Given the description of an element on the screen output the (x, y) to click on. 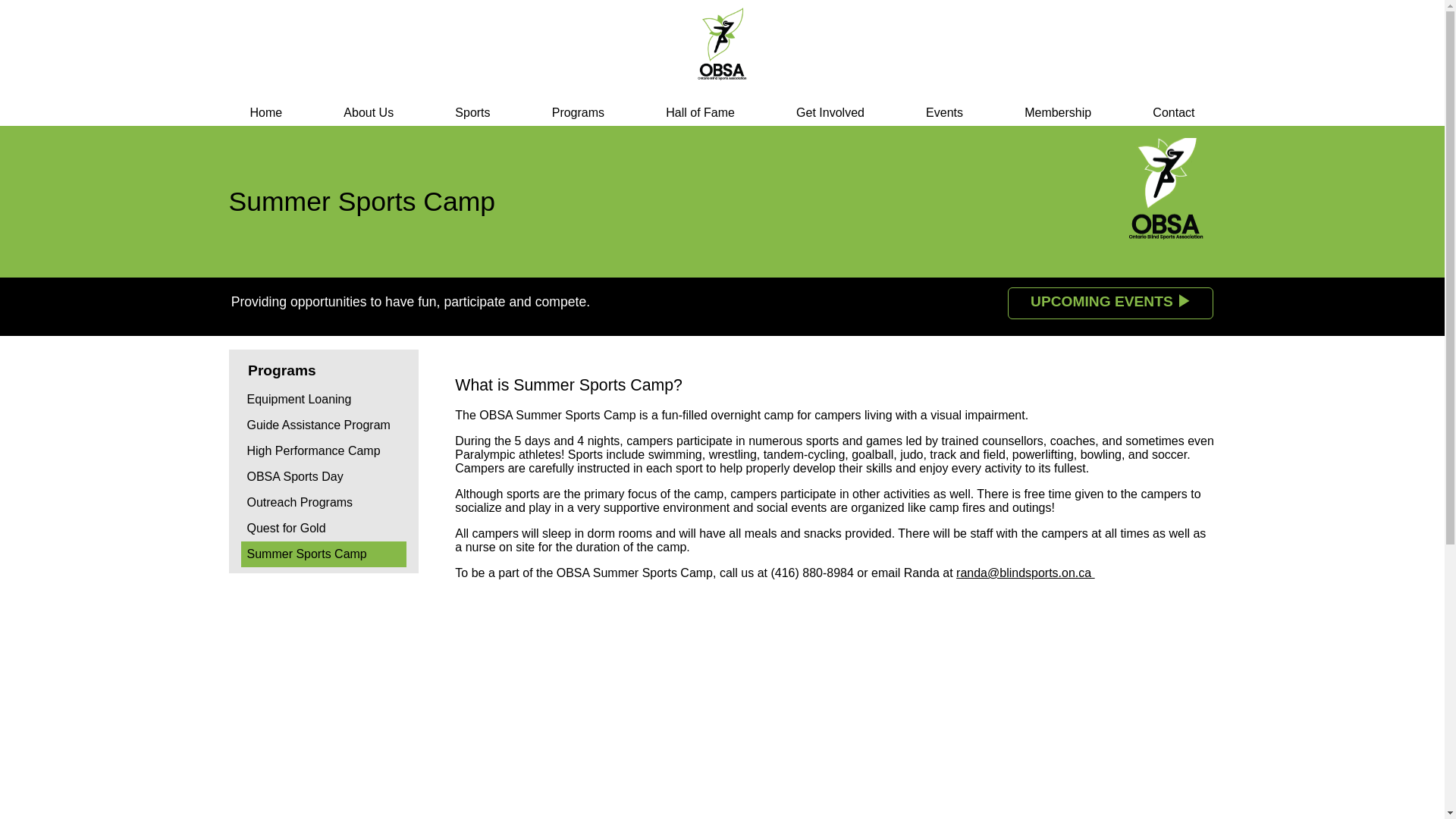
Programs (577, 112)
OBSA Sports Day (324, 476)
UPCOMING EVENTS (1109, 303)
Sports (472, 112)
About Us (368, 112)
Programs (324, 370)
Quest for Gold (324, 528)
Events (944, 112)
Get Involved (830, 112)
Guide Assistance Program (324, 425)
Summer Sports Camp (324, 554)
Equipment Loaning (324, 399)
Membership (1057, 112)
Hall of Fame (699, 112)
Contact (1173, 112)
